Given the description of an element on the screen output the (x, y) to click on. 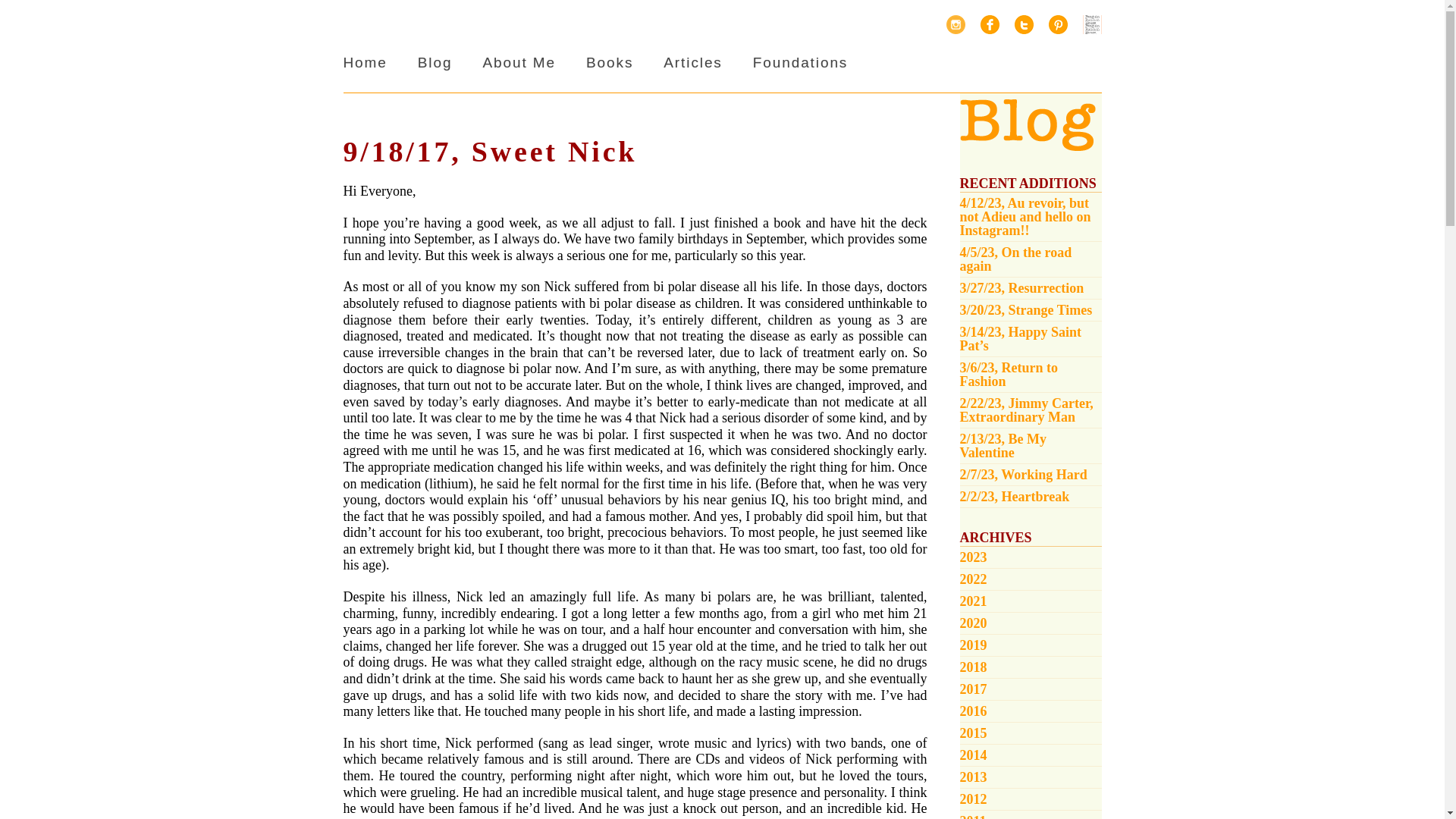
Twitter (1023, 24)
About Me (518, 62)
2016 (1030, 711)
Articles (692, 62)
2023 (1030, 557)
2015 (1030, 733)
Facebook (988, 24)
2014 (1030, 755)
2020 (1030, 623)
Random House (1092, 24)
